Given the description of an element on the screen output the (x, y) to click on. 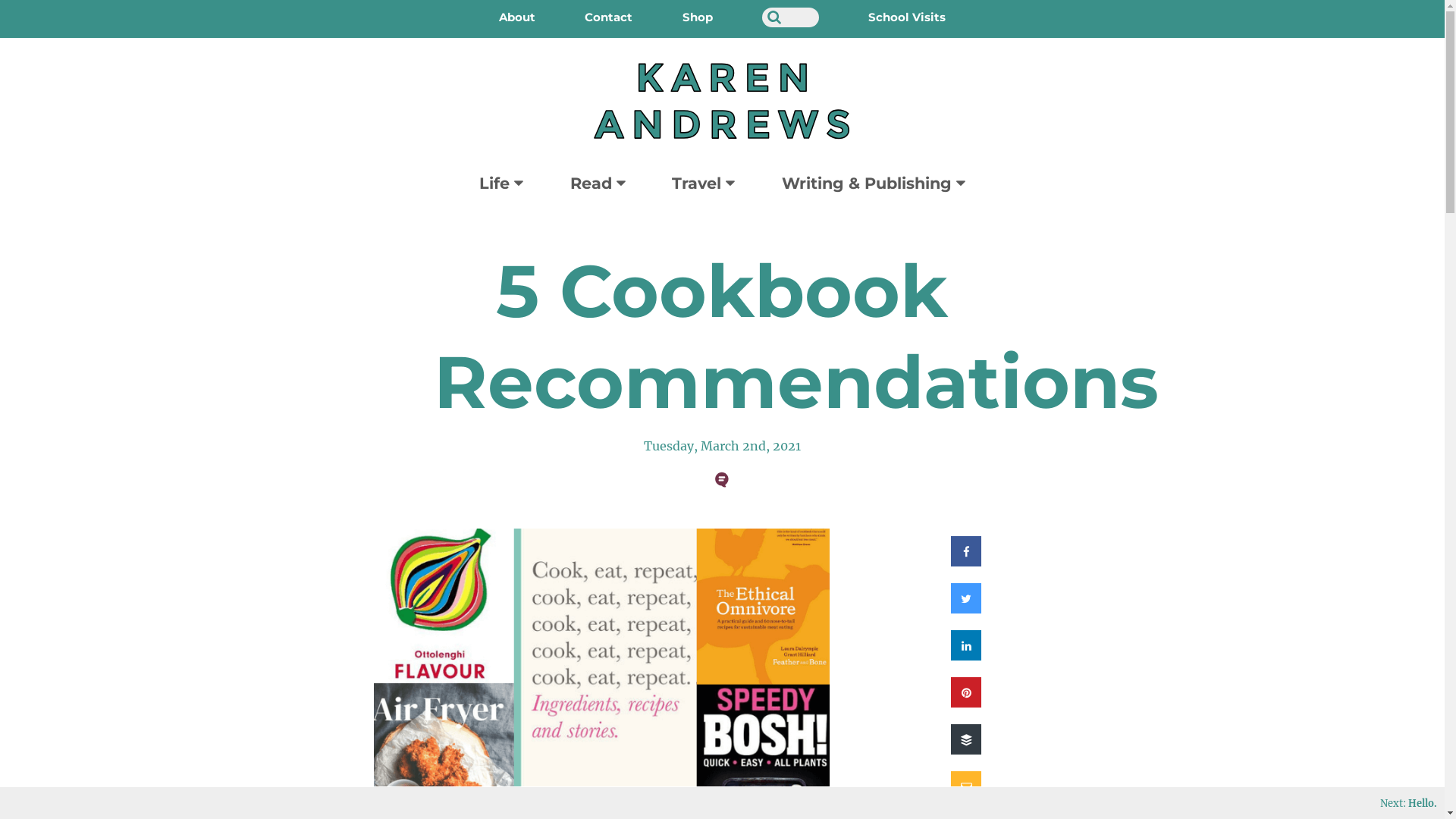
Shop Element type: text (697, 16)
Writing & Publishing Element type: text (873, 182)
School Visits Element type: text (906, 16)
About Element type: text (516, 16)
Travel Element type: text (702, 182)
Life Element type: text (501, 182)
Read Element type: text (597, 182)
Contact Element type: text (608, 16)
Skip to content Element type: text (0, 0)
